Given the description of an element on the screen output the (x, y) to click on. 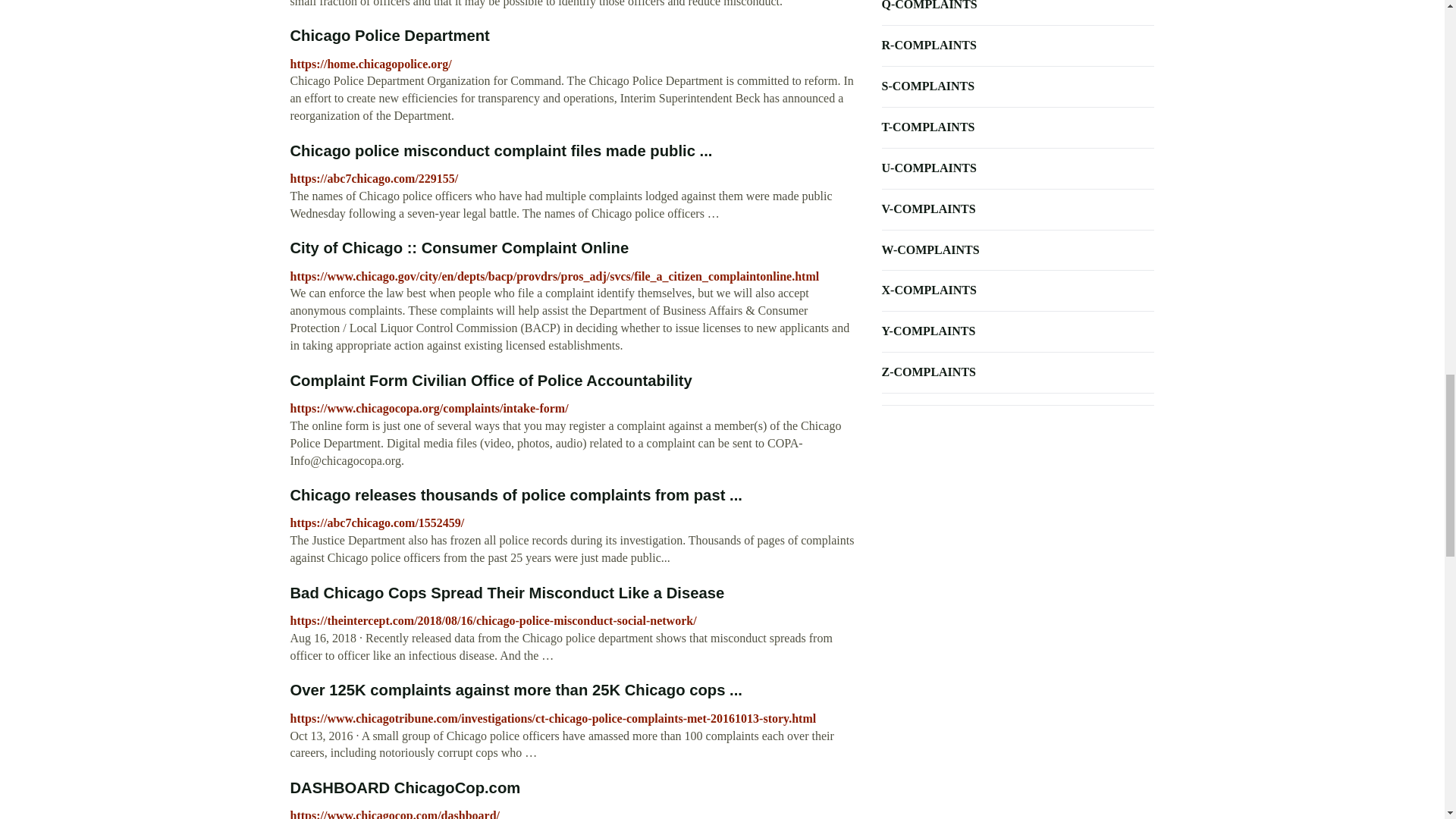
Chicago police misconduct complaint files made public ... (500, 150)
City of Chicago :: Consumer Complaint Online (458, 247)
Complaint Form Civilian Office of Police Accountability (490, 380)
Chicago Police Department (389, 35)
Over 125K complaints against more than 25K Chicago cops ... (515, 689)
Bad Chicago Cops Spread Their Misconduct Like a Disease (506, 592)
DASHBOARD ChicagoCop.com (404, 787)
